Given the description of an element on the screen output the (x, y) to click on. 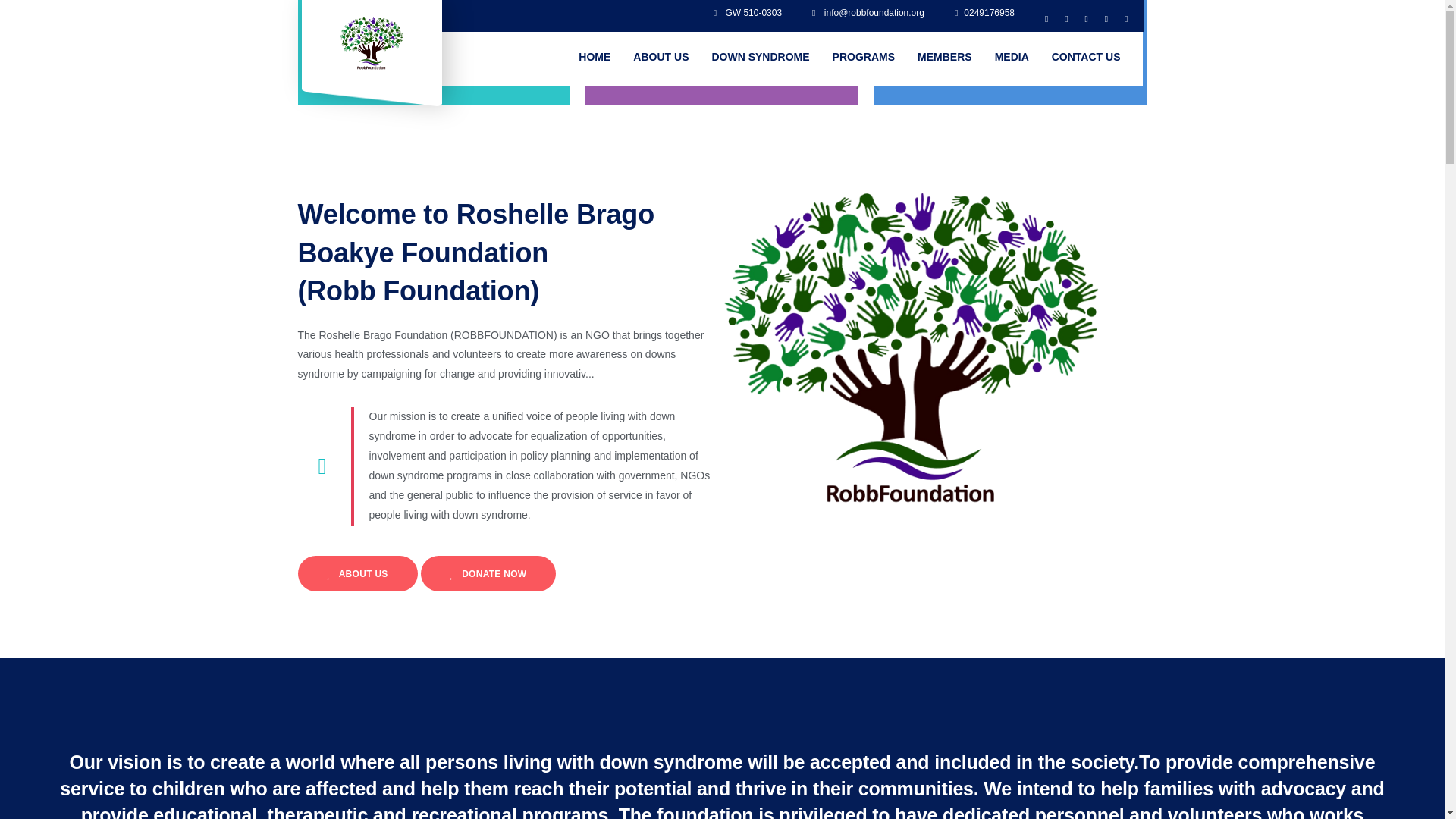
PROGRAMS (863, 56)
GW 510-0303 (747, 12)
MEMBERS (944, 56)
DOWN SYNDROME (760, 56)
HOME (594, 56)
ABOUT US (660, 56)
CONTACT US (1086, 56)
MEDIA (1012, 56)
